Given the description of an element on the screen output the (x, y) to click on. 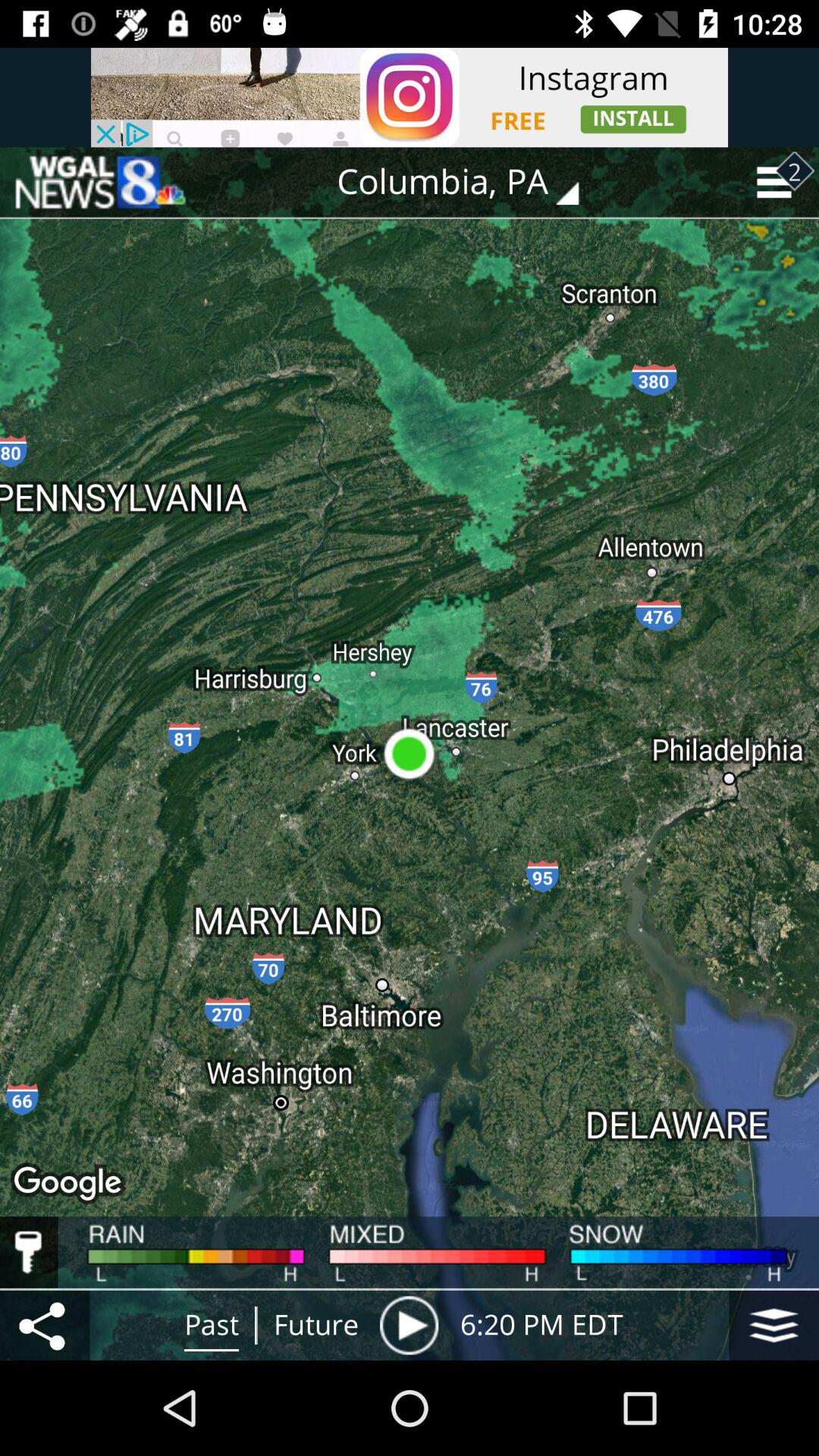
opens an advertisement (409, 97)
